Given the description of an element on the screen output the (x, y) to click on. 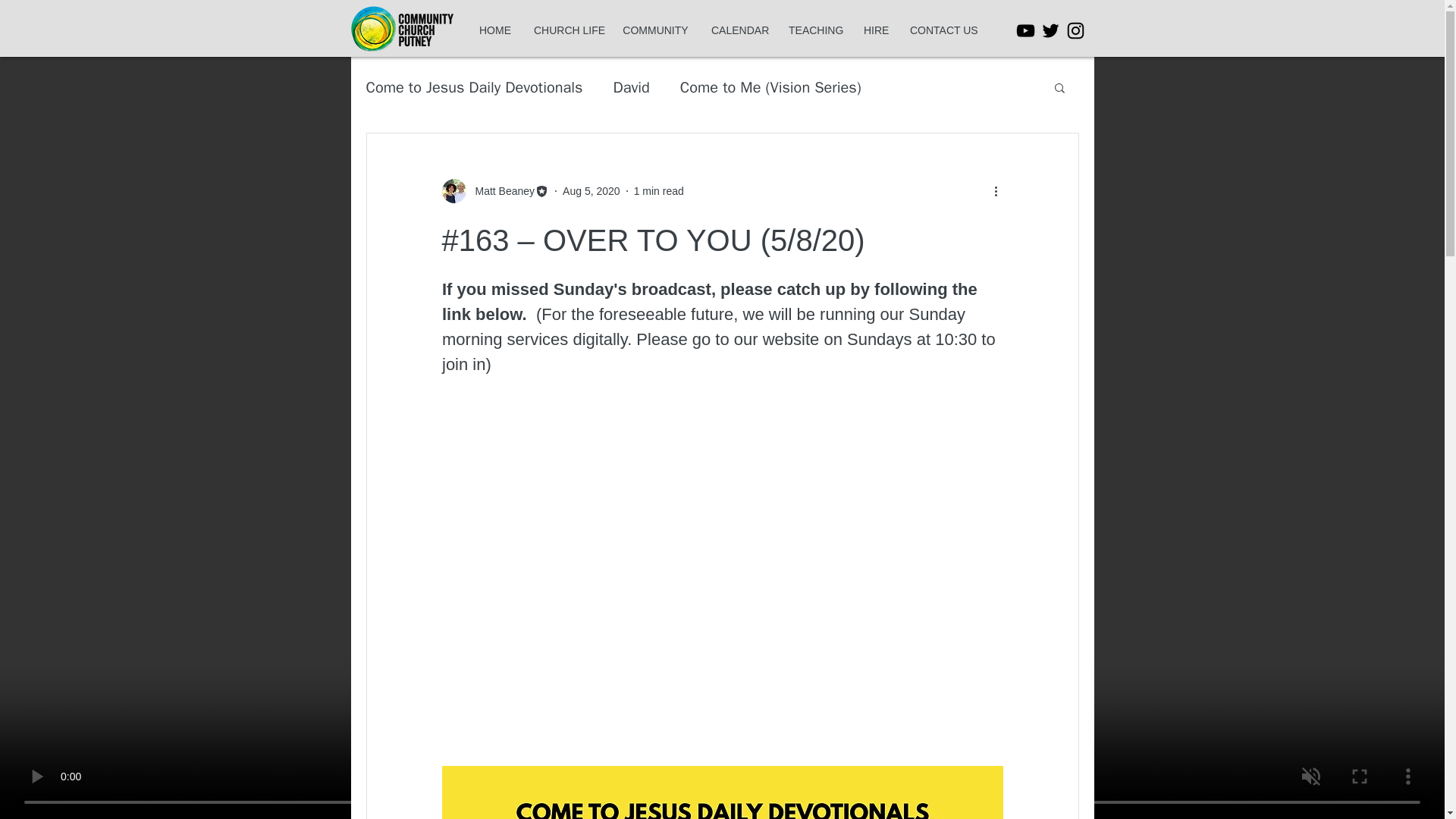
1 min read (658, 191)
Aug 5, 2020 (591, 191)
COMMUNITY (655, 29)
HOME (494, 29)
Come to Jesus Daily Devotionals (473, 86)
TEACHING (814, 29)
Matt Beaney (499, 191)
David (630, 86)
CONTACT US (942, 29)
HIRE (874, 29)
CHURCH LIFE (566, 29)
CALENDAR (738, 29)
